Given the description of an element on the screen output the (x, y) to click on. 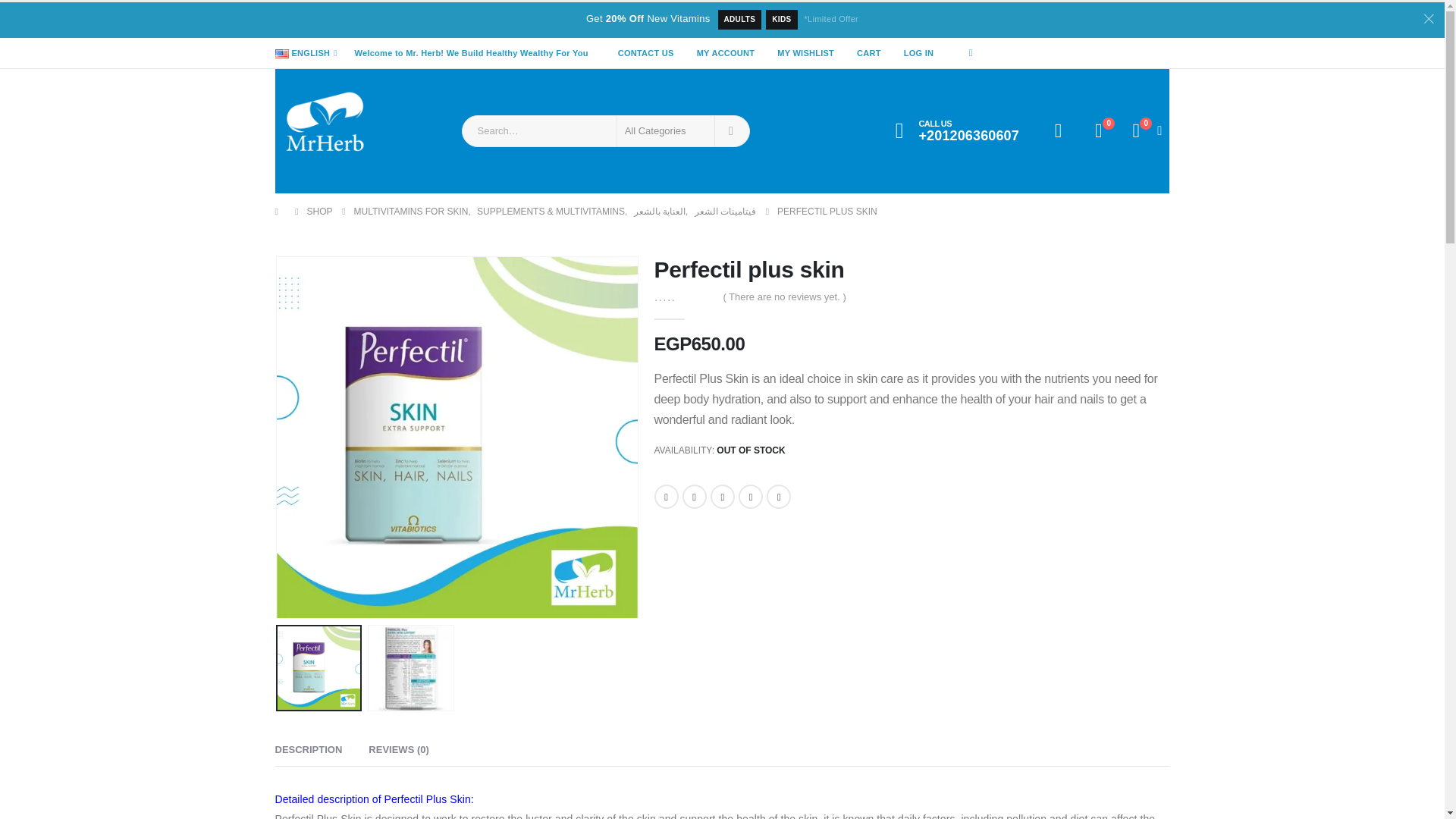
Search (731, 131)
CONTACT US (646, 53)
ENGLISH (307, 53)
Wishlist (1098, 130)
CART (868, 53)
0 (1098, 130)
MY WISHLIST (805, 53)
My Account (1058, 130)
18. Perfectil plus skin (456, 437)
